Given the description of an element on the screen output the (x, y) to click on. 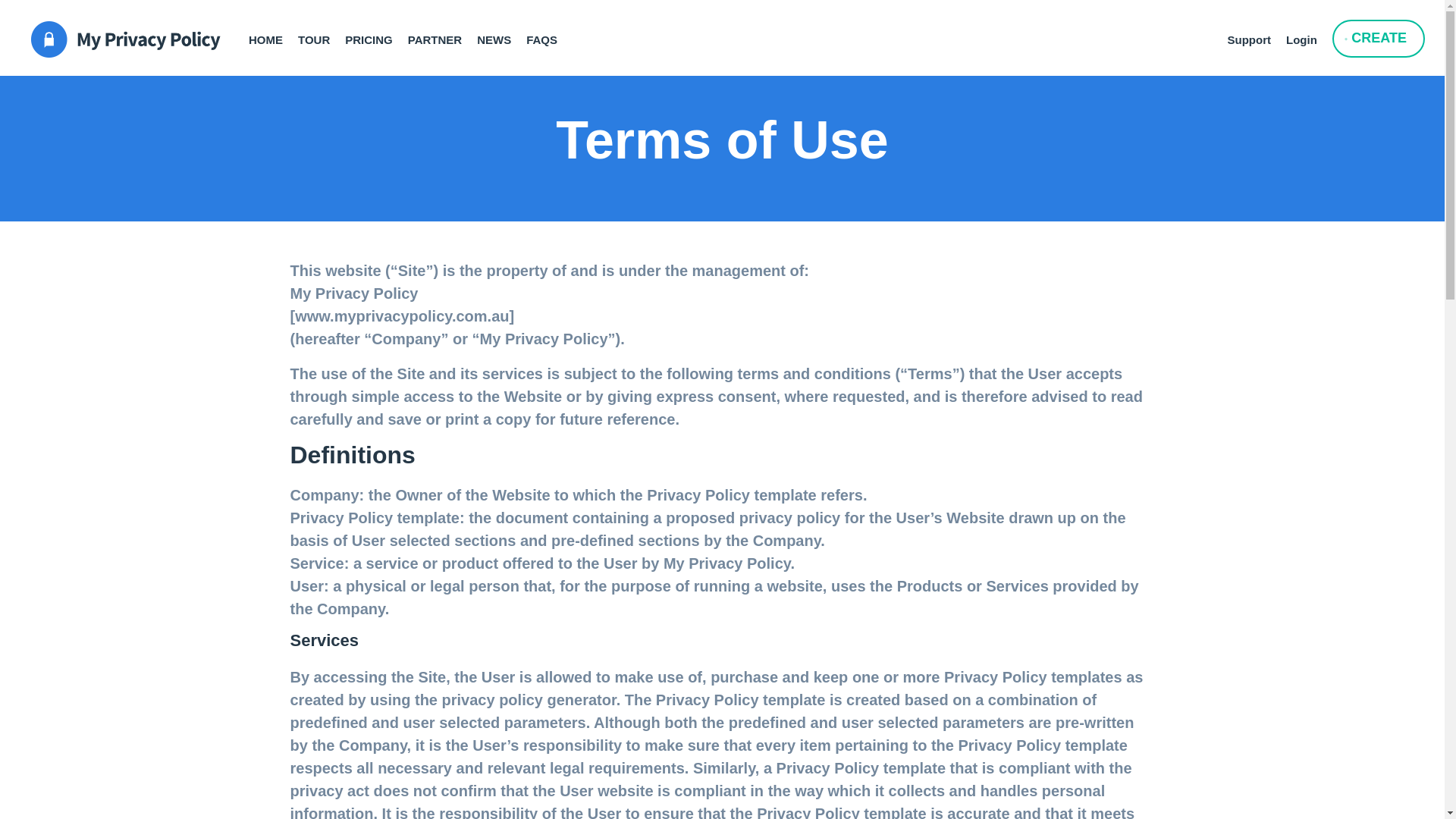
Login (1308, 33)
PRICING (376, 33)
NEWS (501, 33)
CREATE (1378, 38)
TOUR (321, 33)
HOME (273, 33)
PARTNER (442, 33)
Support (1256, 33)
FAQS (548, 33)
